Given the description of an element on the screen output the (x, y) to click on. 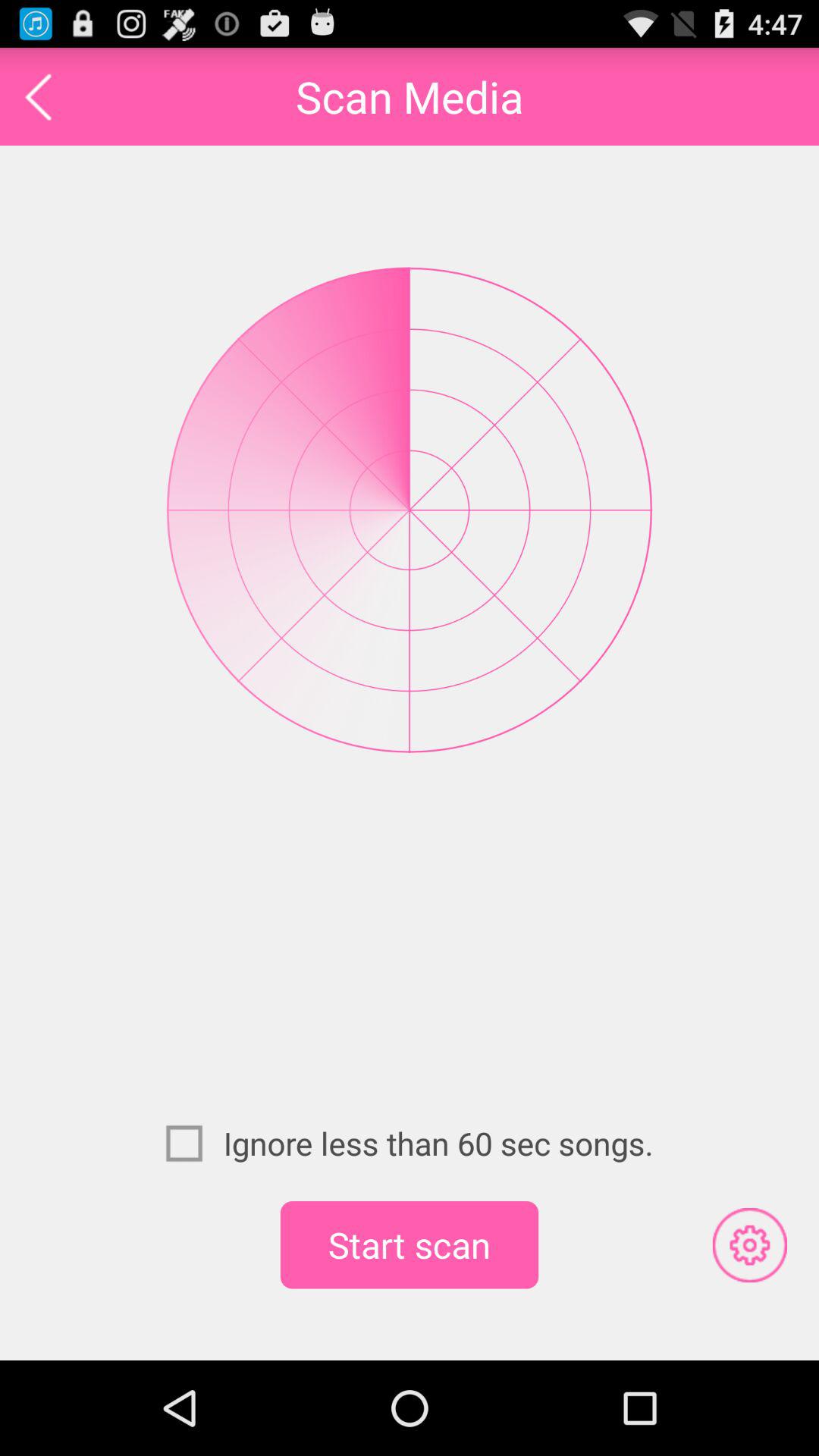
scroll until the start scan icon (409, 1244)
